Given the description of an element on the screen output the (x, y) to click on. 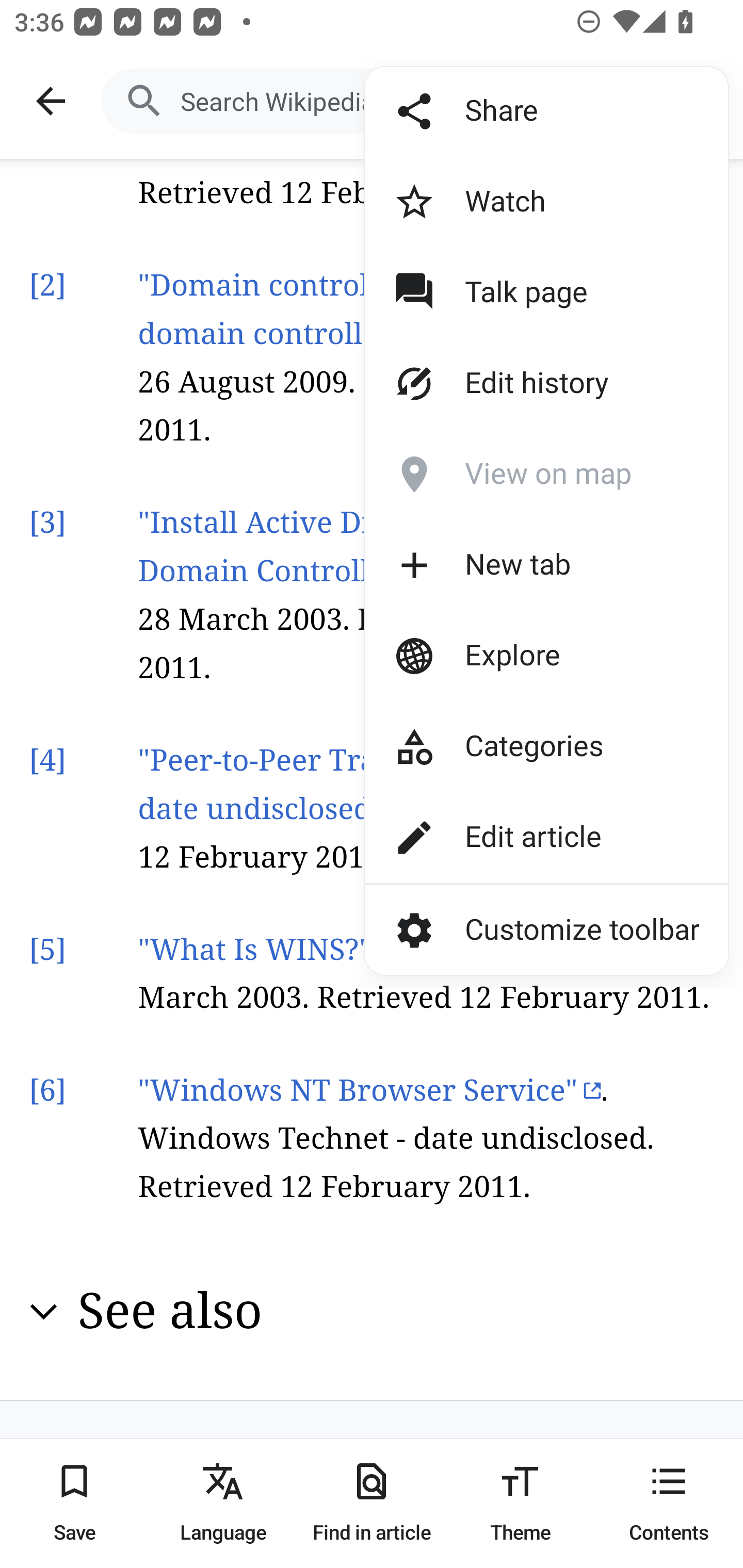
Share (512, 110)
Watch (512, 201)
Talk page (512, 292)
Edit history (512, 383)
View on map (512, 474)
New tab (512, 564)
Explore (512, 654)
Categories (512, 745)
Edit article (512, 836)
Customize toolbar (546, 929)
